Given the description of an element on the screen output the (x, y) to click on. 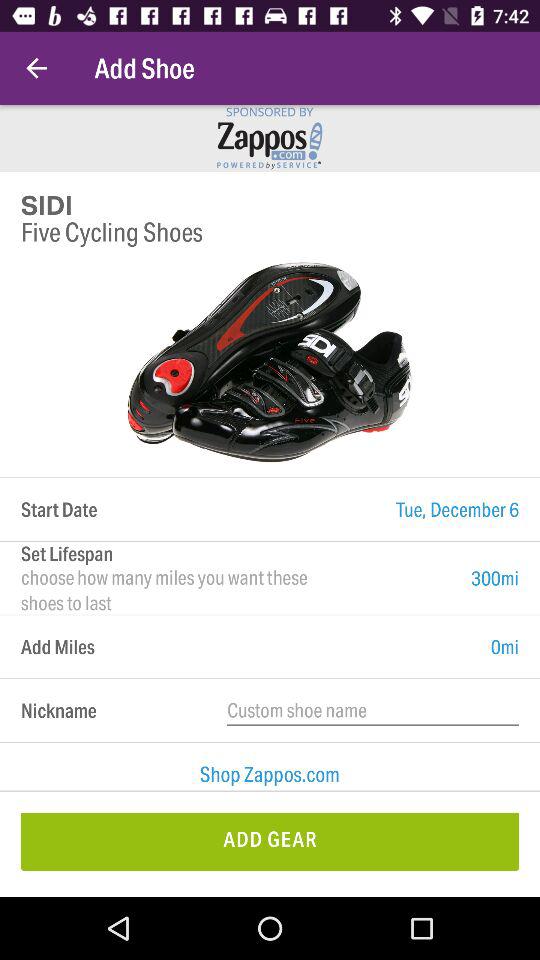
nickname textbox (373, 710)
